Given the description of an element on the screen output the (x, y) to click on. 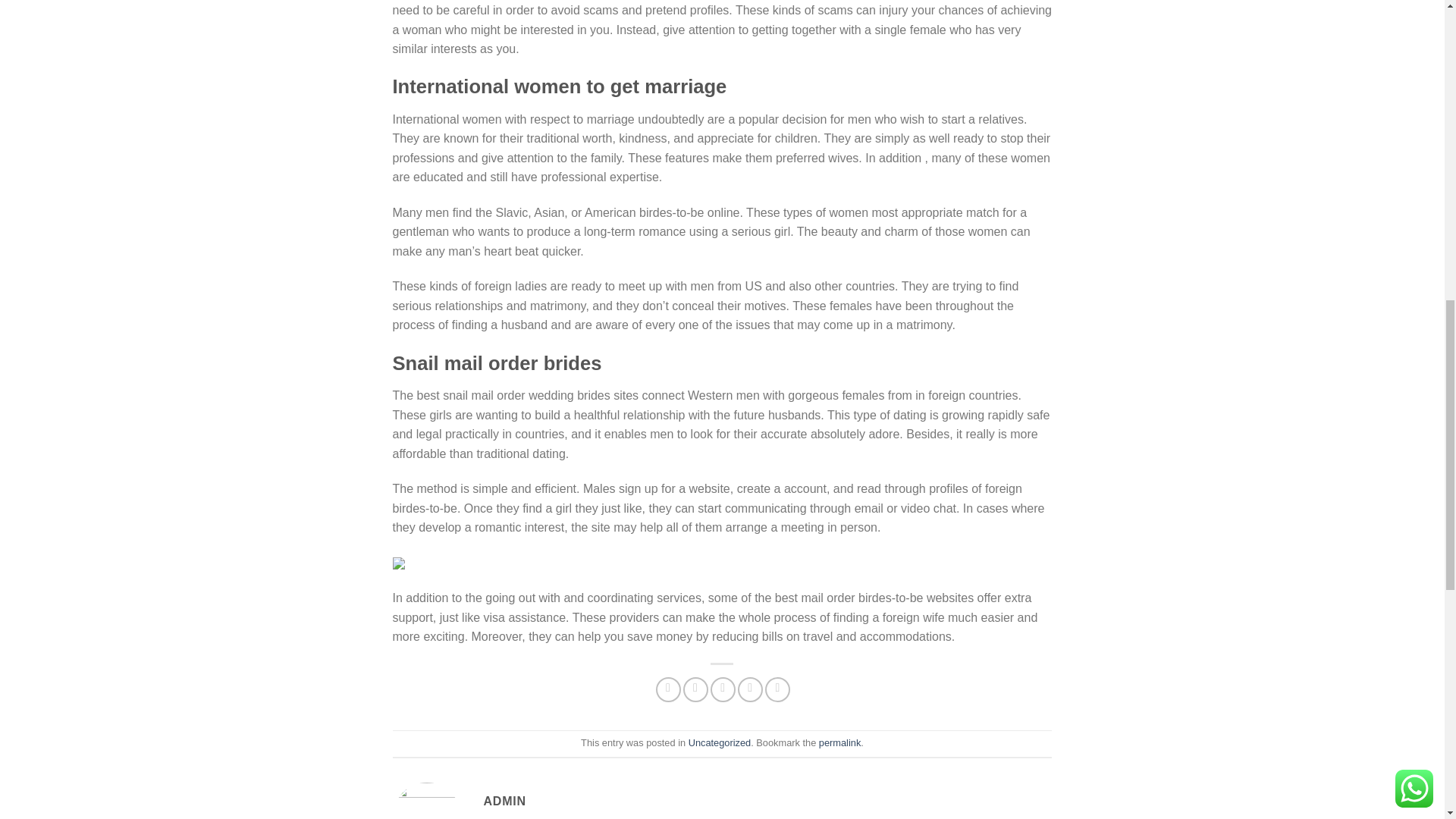
Share on Facebook (668, 689)
Pin on Pinterest (750, 689)
Permalink to How to locate Foreign Better half Online (839, 742)
Share on LinkedIn (777, 689)
Share on Twitter (694, 689)
Email to a Friend (722, 689)
permalink (839, 742)
Uncategorized (719, 742)
